Given the description of an element on the screen output the (x, y) to click on. 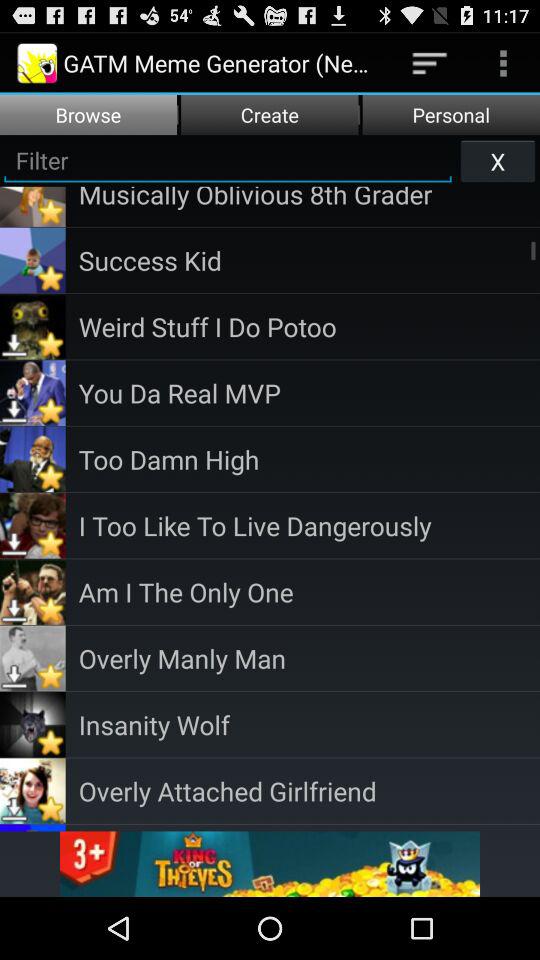
choose the app below am i the icon (309, 657)
